Given the description of an element on the screen output the (x, y) to click on. 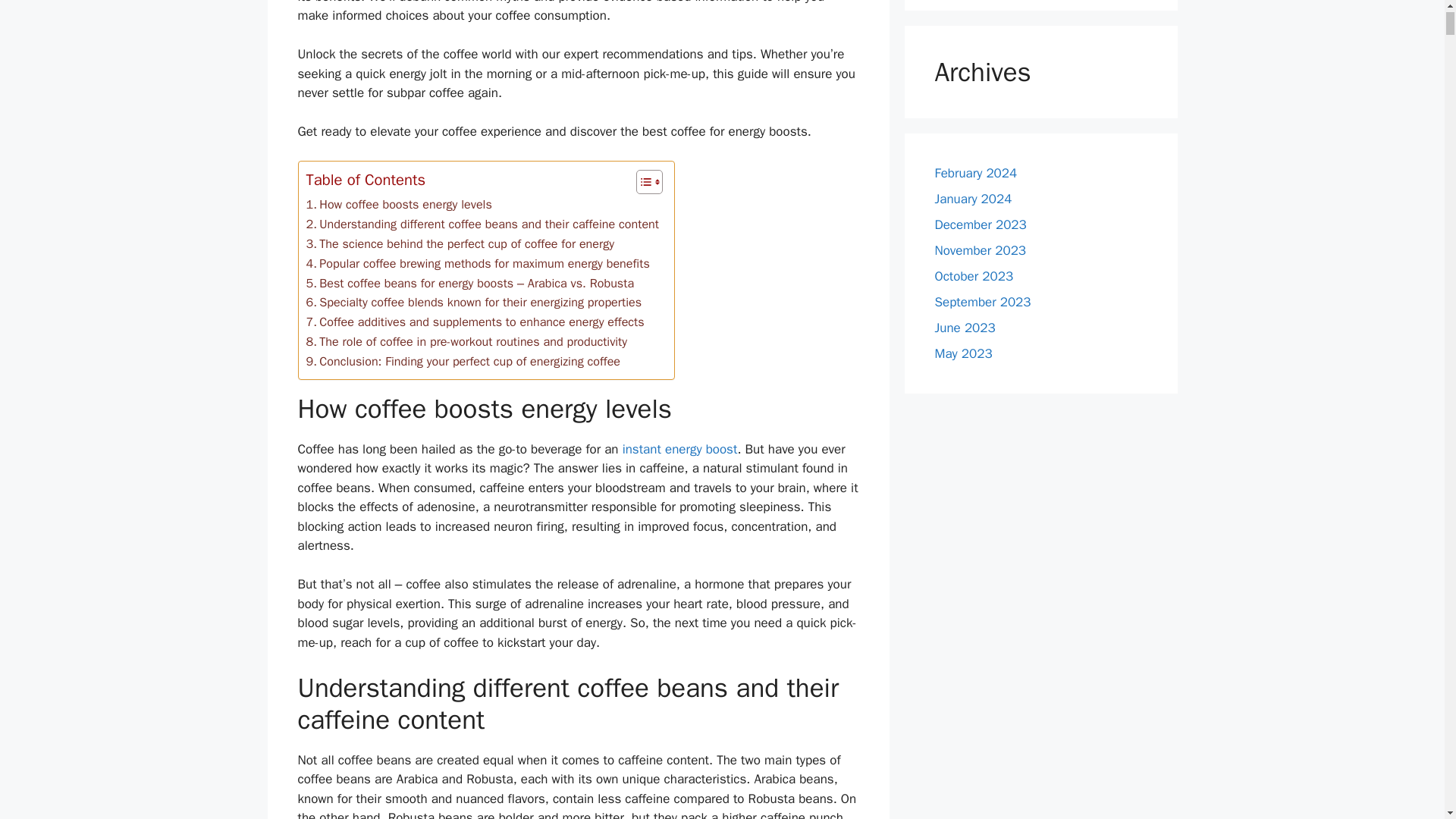
The science behind the perfect cup of coffee for energy (459, 243)
The role of coffee in pre-workout routines and productivity (466, 342)
The science behind the perfect cup of coffee for energy (459, 243)
instant energy boost (680, 449)
The role of coffee in pre-workout routines and productivity (466, 342)
Coffee additives and supplements to enhance energy effects (475, 322)
Popular coffee brewing methods for maximum energy benefits (477, 263)
